Given the description of an element on the screen output the (x, y) to click on. 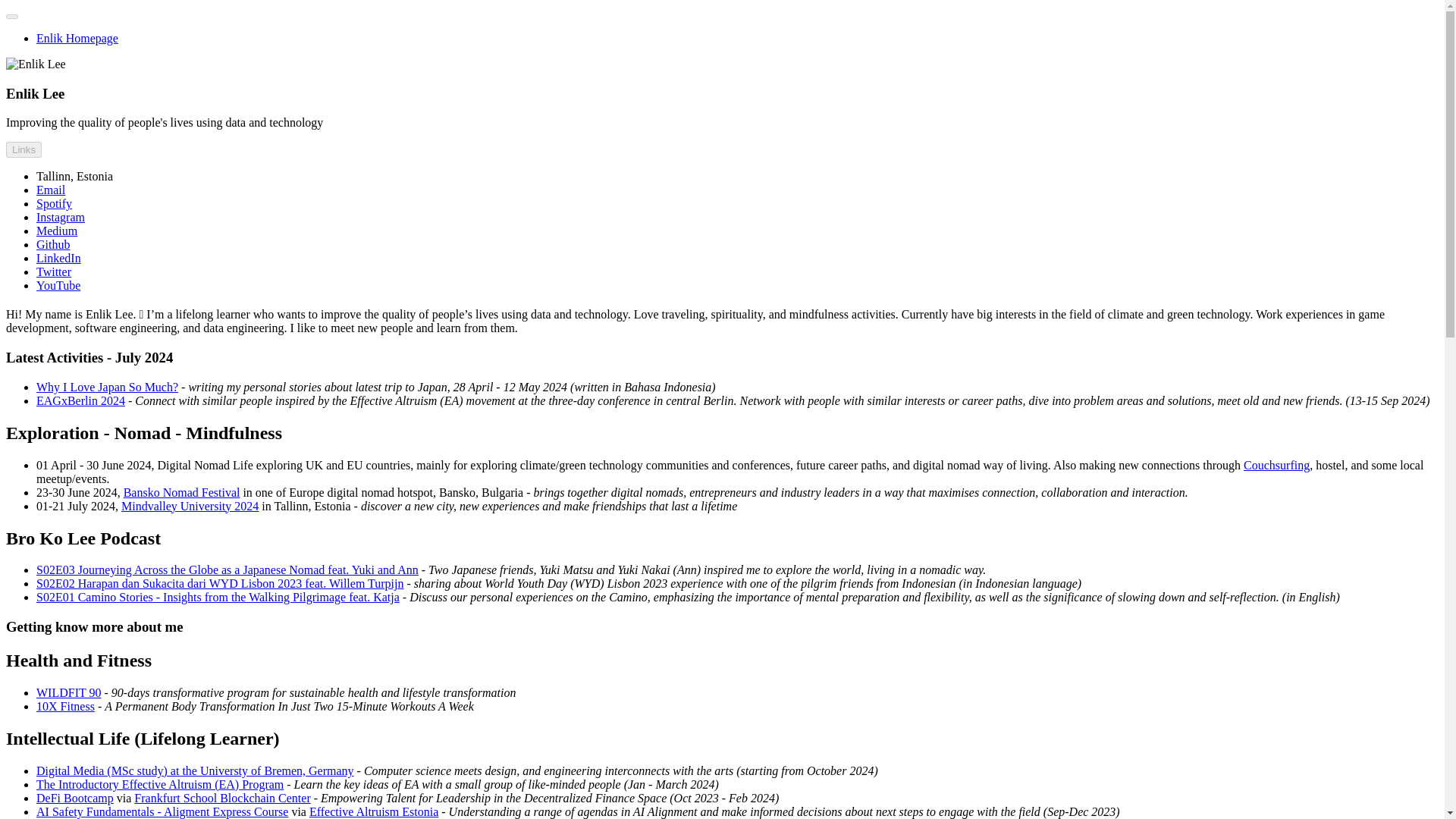
YouTube (58, 285)
WILDFIT 90 (68, 692)
Mindvalley University 2024 (189, 505)
Spotify (53, 203)
AI Safety Fundamentals - Aligment Express Course (162, 811)
Twitter (53, 271)
LinkedIn (58, 257)
EAGxBerlin 2024 (80, 400)
Why I Love Japan So Much? (106, 386)
